Given the description of an element on the screen output the (x, y) to click on. 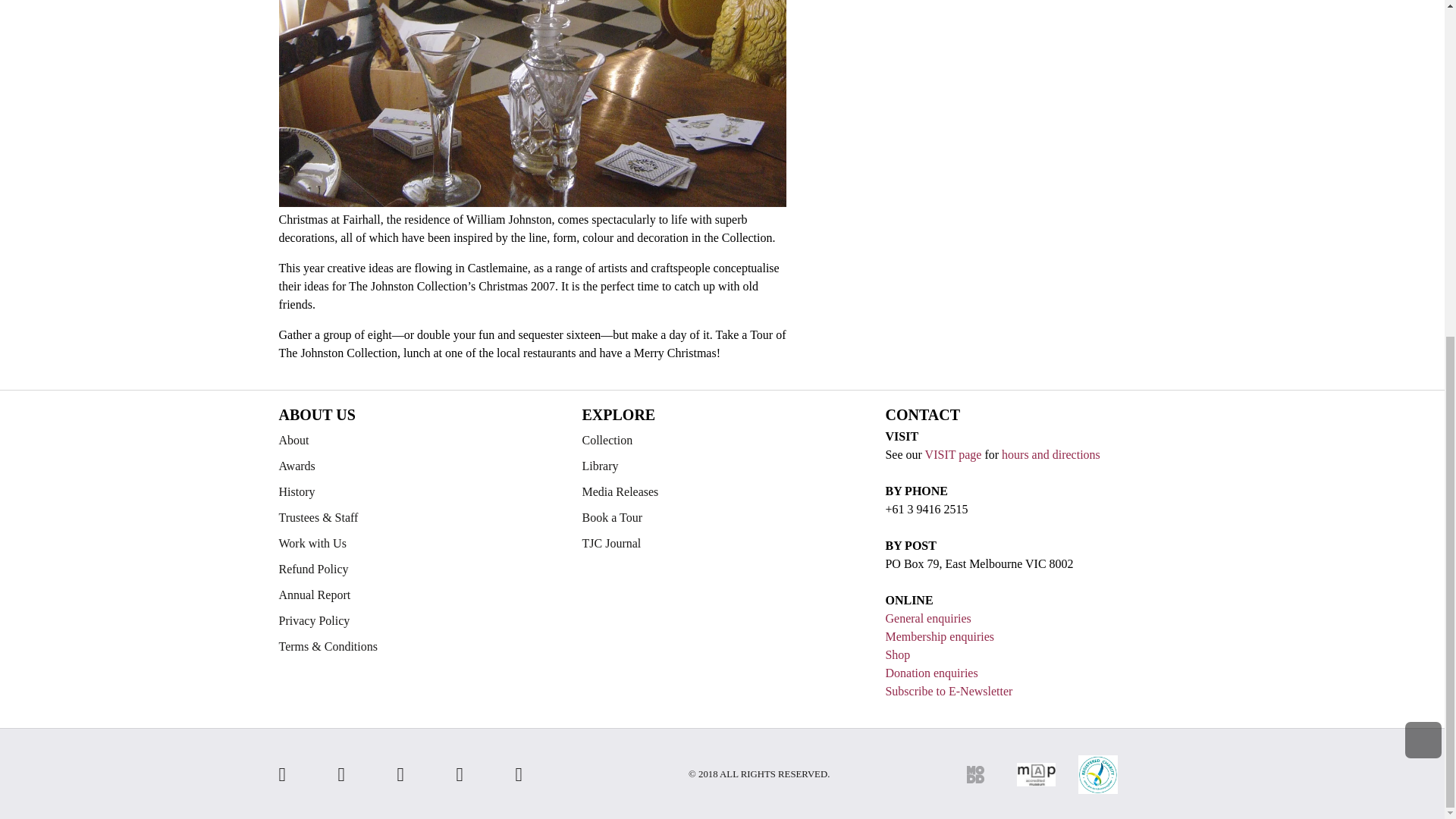
Annual Report (419, 595)
Media Releases (720, 492)
History (419, 492)
Donation enquiries (930, 672)
General enquiries (928, 617)
hours and directions (1050, 454)
Collection (720, 440)
Shop (897, 654)
Subscribe to E-Newsletter (948, 690)
Work with Us (419, 543)
